Given the description of an element on the screen output the (x, y) to click on. 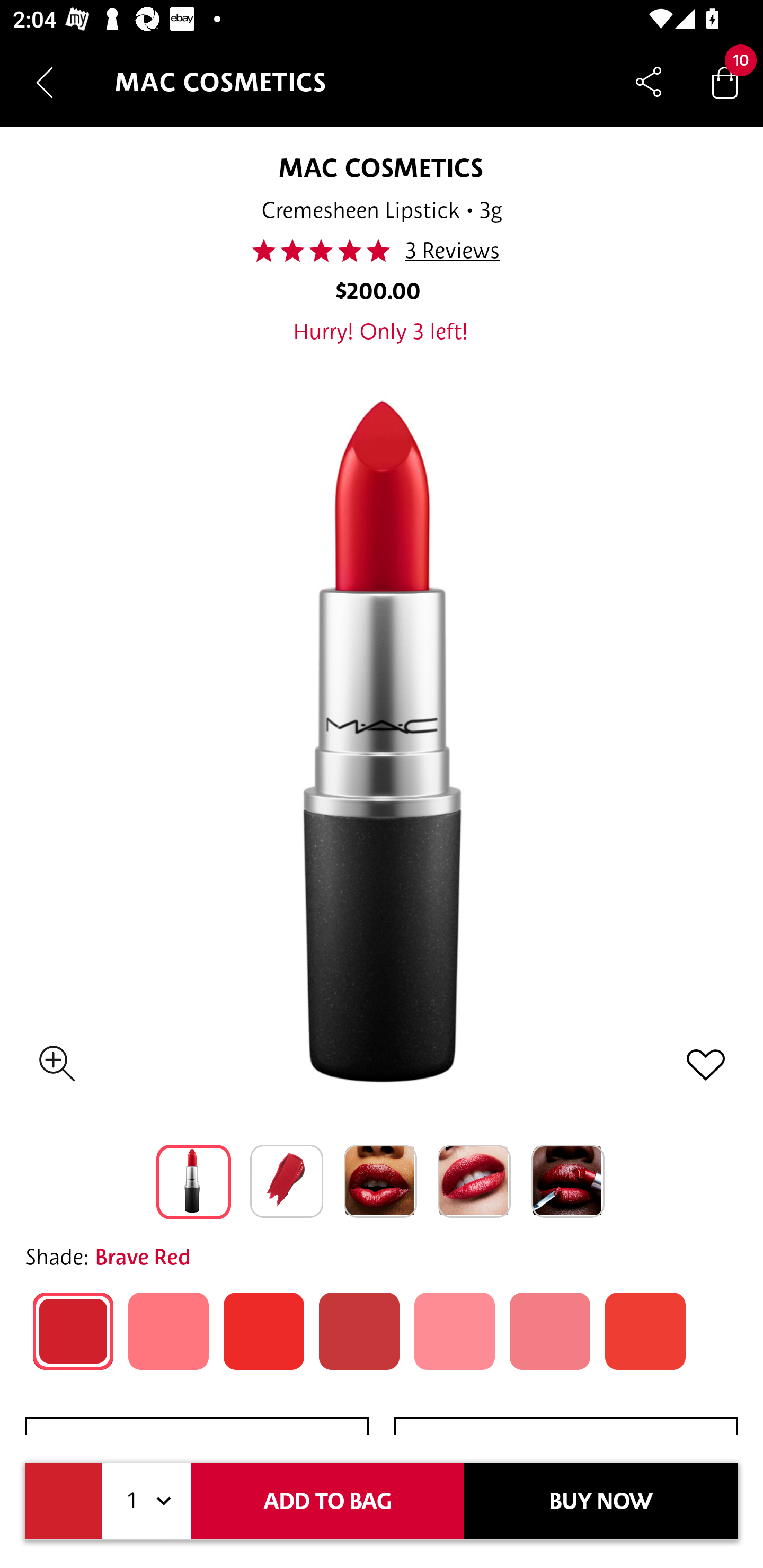
Navigate up (44, 82)
Share (648, 81)
Bag (724, 81)
MAC COSMETICS (380, 167)
50.0 3 Reviews (380, 250)
1 (145, 1500)
ADD TO BAG (326, 1500)
BUY NOW (600, 1500)
